Given the description of an element on the screen output the (x, y) to click on. 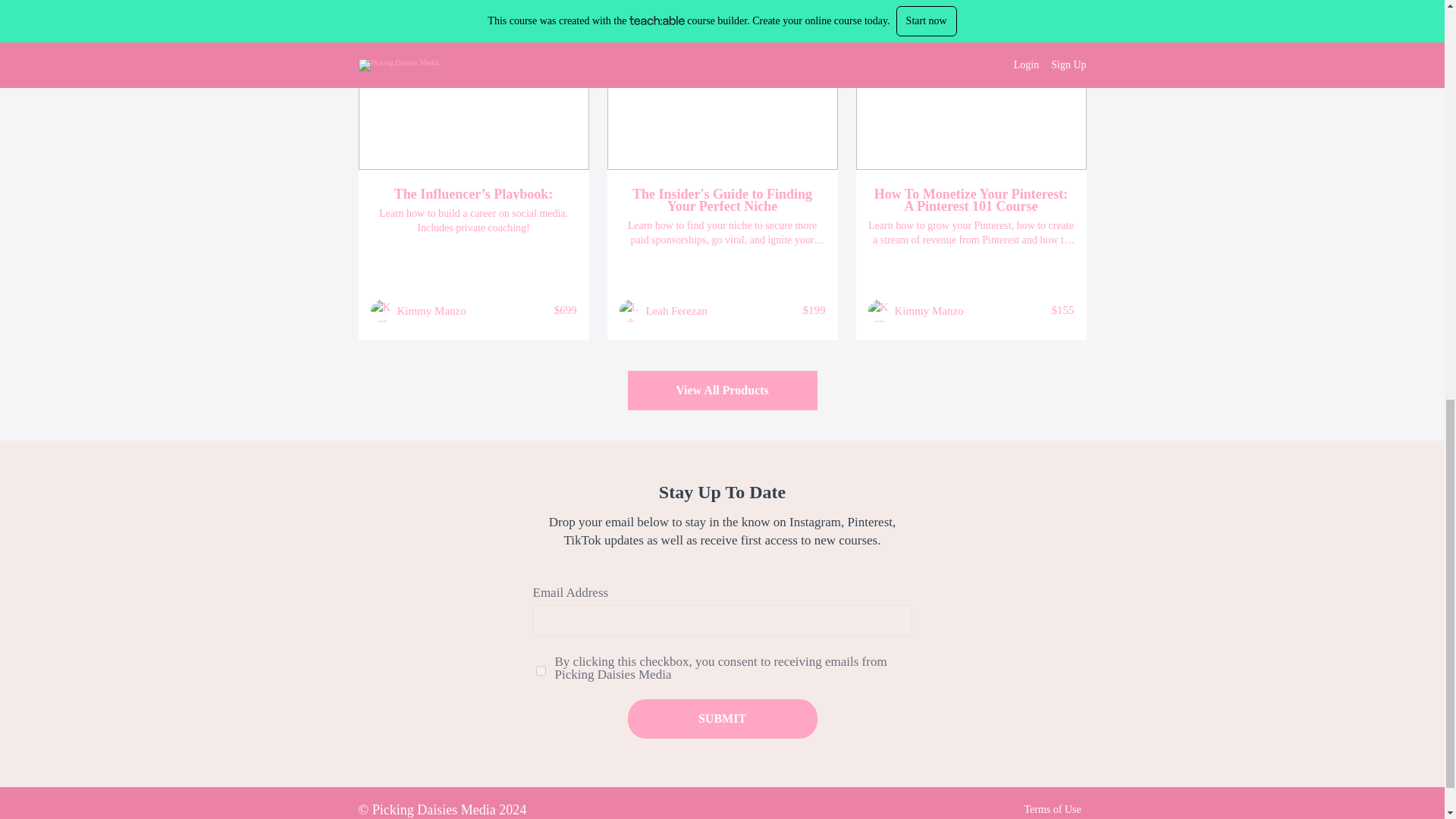
View All Products (721, 391)
Kimmy Manzo (929, 310)
The Insider's Guide to Finding Your Perfect Niche (721, 200)
Leah Ferezan (676, 310)
SUBMIT (721, 718)
How To Monetize Your Pinterest: A Pinterest 101 Course (970, 200)
Terms of Use (1051, 808)
View All Products (721, 390)
